Given the description of an element on the screen output the (x, y) to click on. 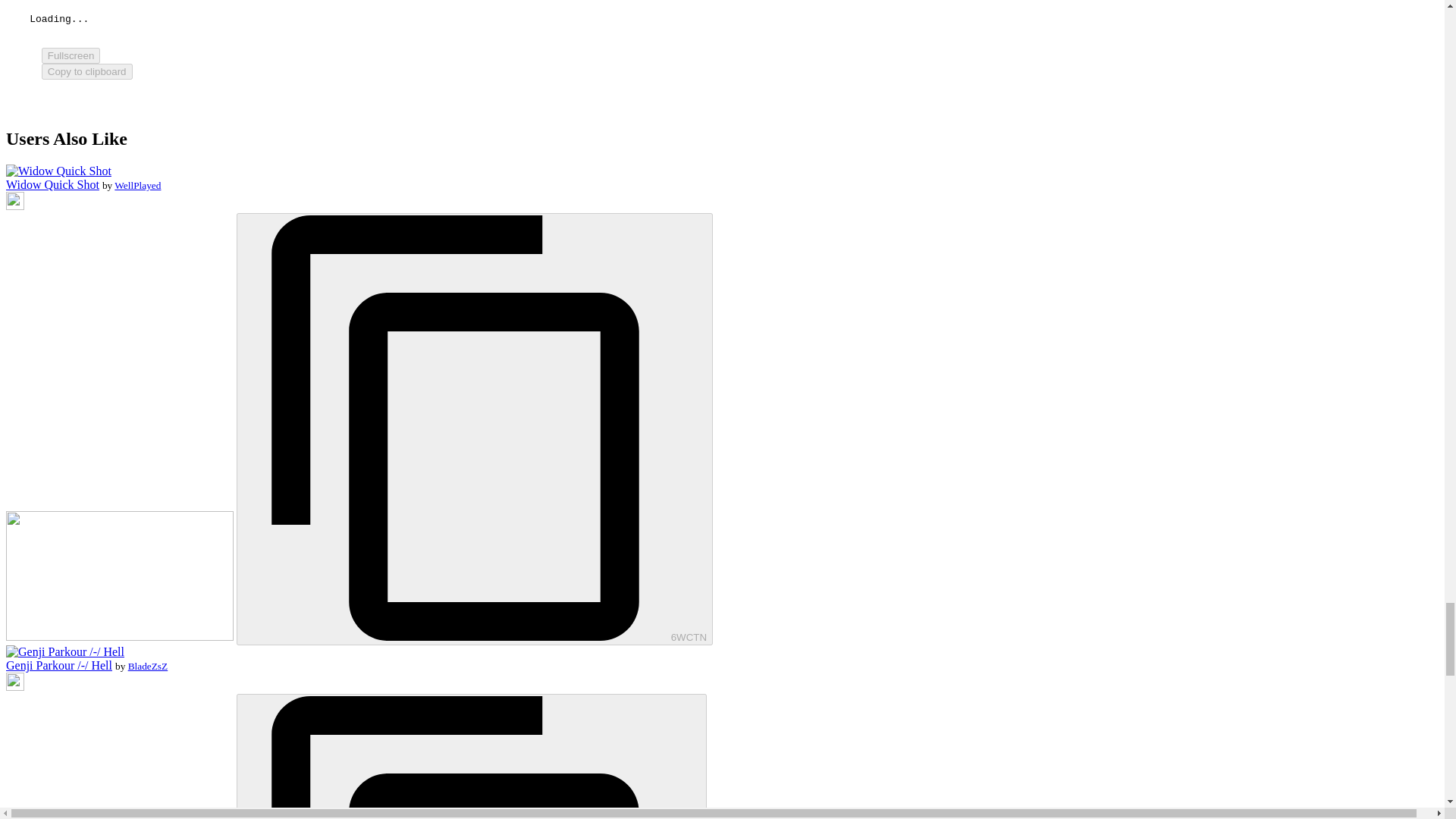
Widow Quick Shot (52, 184)
Copy to clipboard (87, 71)
Fullscreen (71, 55)
Widow Quick Shot (52, 184)
Widow Quick Shot (58, 170)
WellPlayed (137, 184)
